Given the description of an element on the screen output the (x, y) to click on. 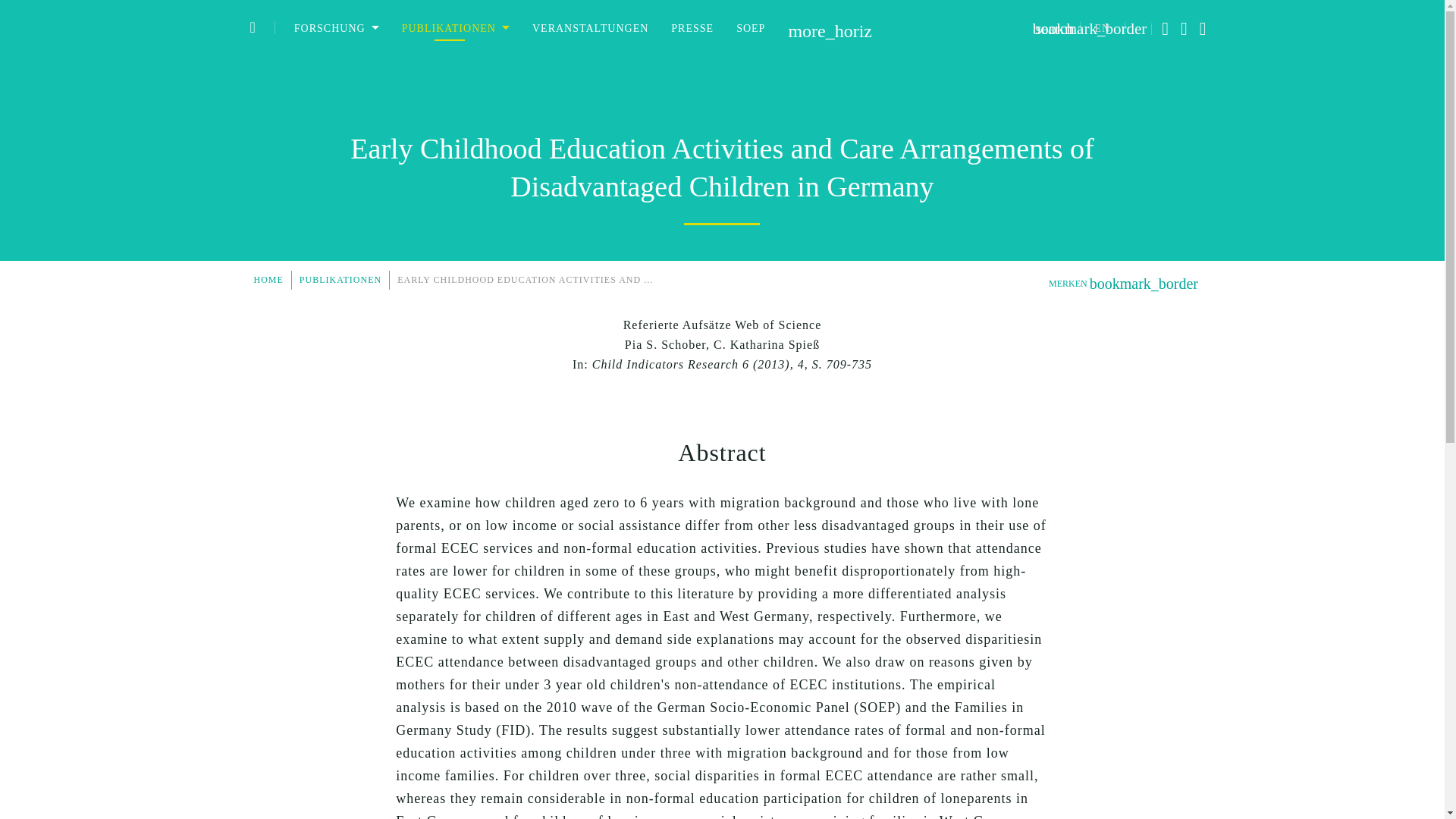
FORSCHUNG (336, 27)
katkey (721, 324)
SOEP (750, 27)
NO english version of this page available (1102, 29)
PUBLIKATIONEN (455, 27)
PRESSE (692, 27)
VERANSTALTUNGEN (589, 27)
